Given the description of an element on the screen output the (x, y) to click on. 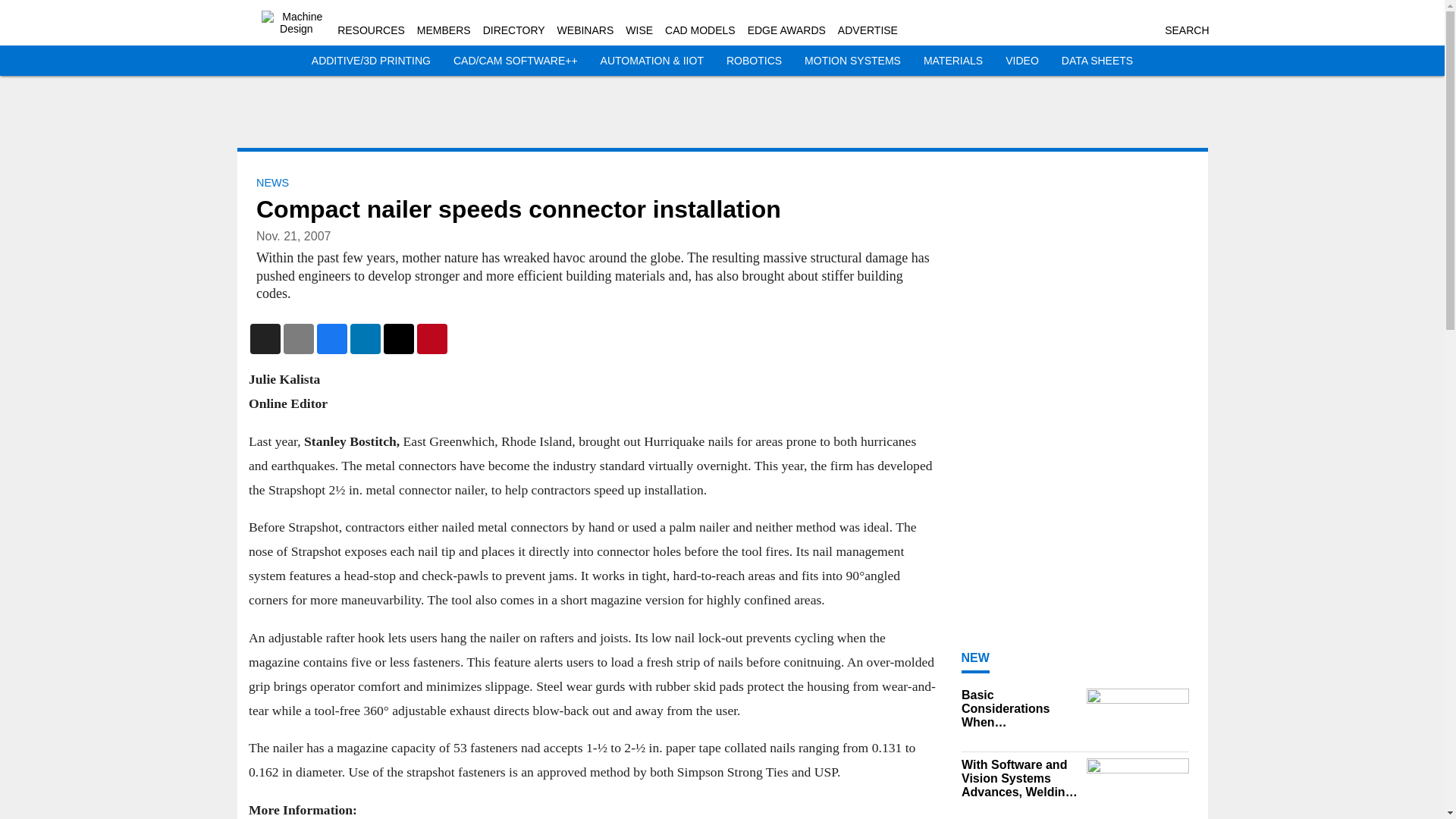
ADVERTISE (868, 30)
EDGE AWARDS (786, 30)
NEWS (272, 182)
SEARCH (1186, 30)
CAD MODELS (700, 30)
VIDEO (1022, 60)
ROBOTICS (753, 60)
MEMBERS (443, 30)
DATA SHEETS (1096, 60)
RESOURCES (370, 30)
